Given the description of an element on the screen output the (x, y) to click on. 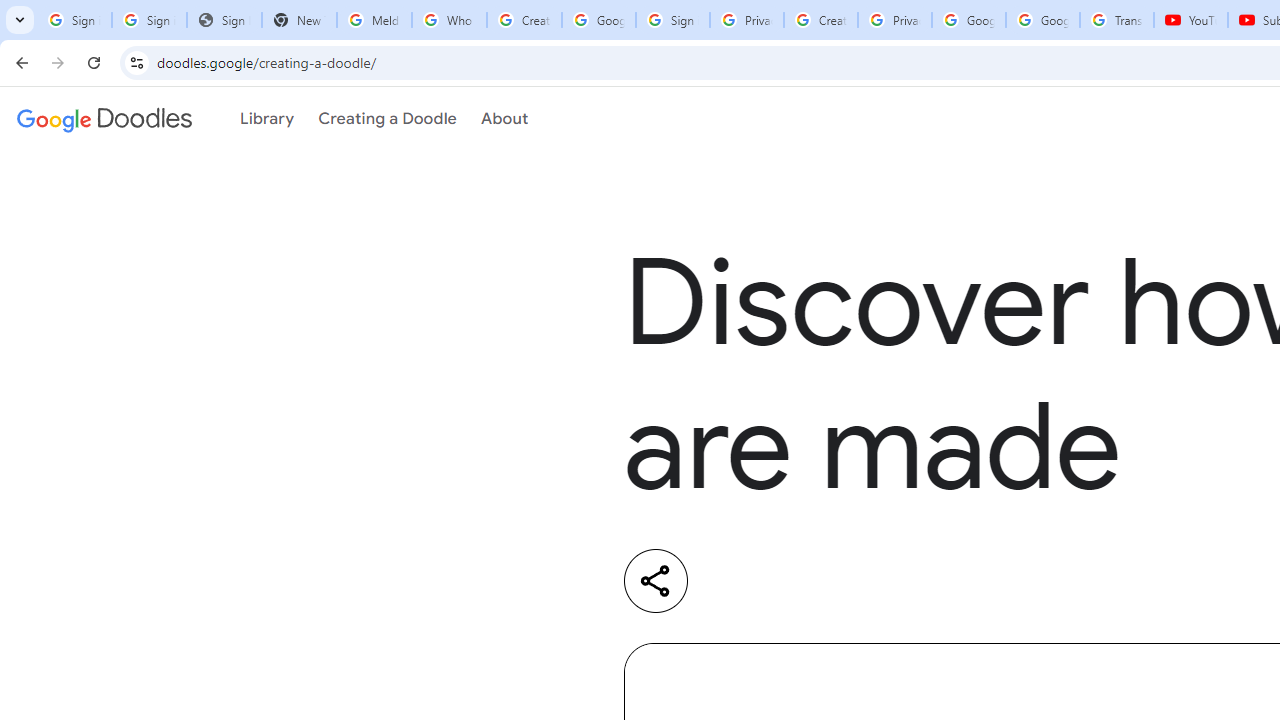
Share on facebook (900, 581)
Sign in - Google Accounts (673, 20)
Create your Google Account (523, 20)
Google Account (1043, 20)
Share on twitter (818, 581)
Who is my administrator? - Google Account Help (449, 20)
Google doodles (104, 119)
